Given the description of an element on the screen output the (x, y) to click on. 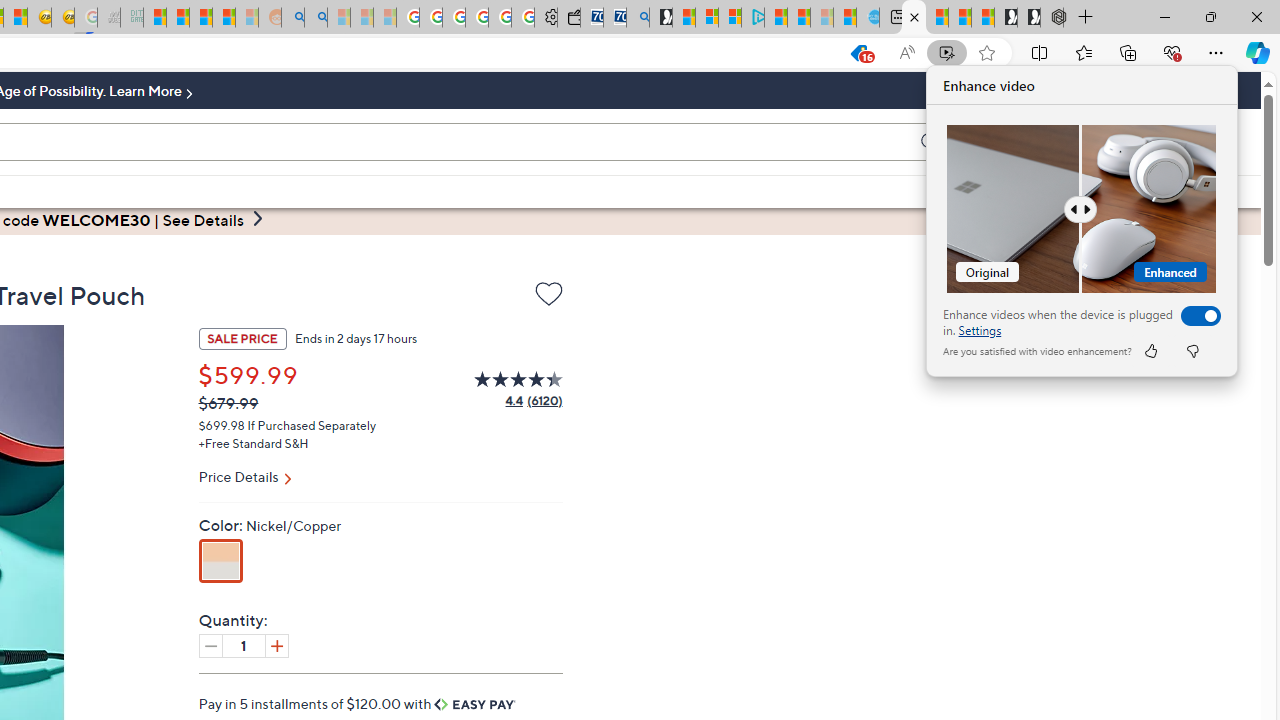
Easy Pay (475, 703)
Comparision (1081, 209)
Like (1150, 350)
Wallet (568, 17)
If Purchased Separately (312, 424)
Price Details (380, 479)
